Given the description of an element on the screen output the (x, y) to click on. 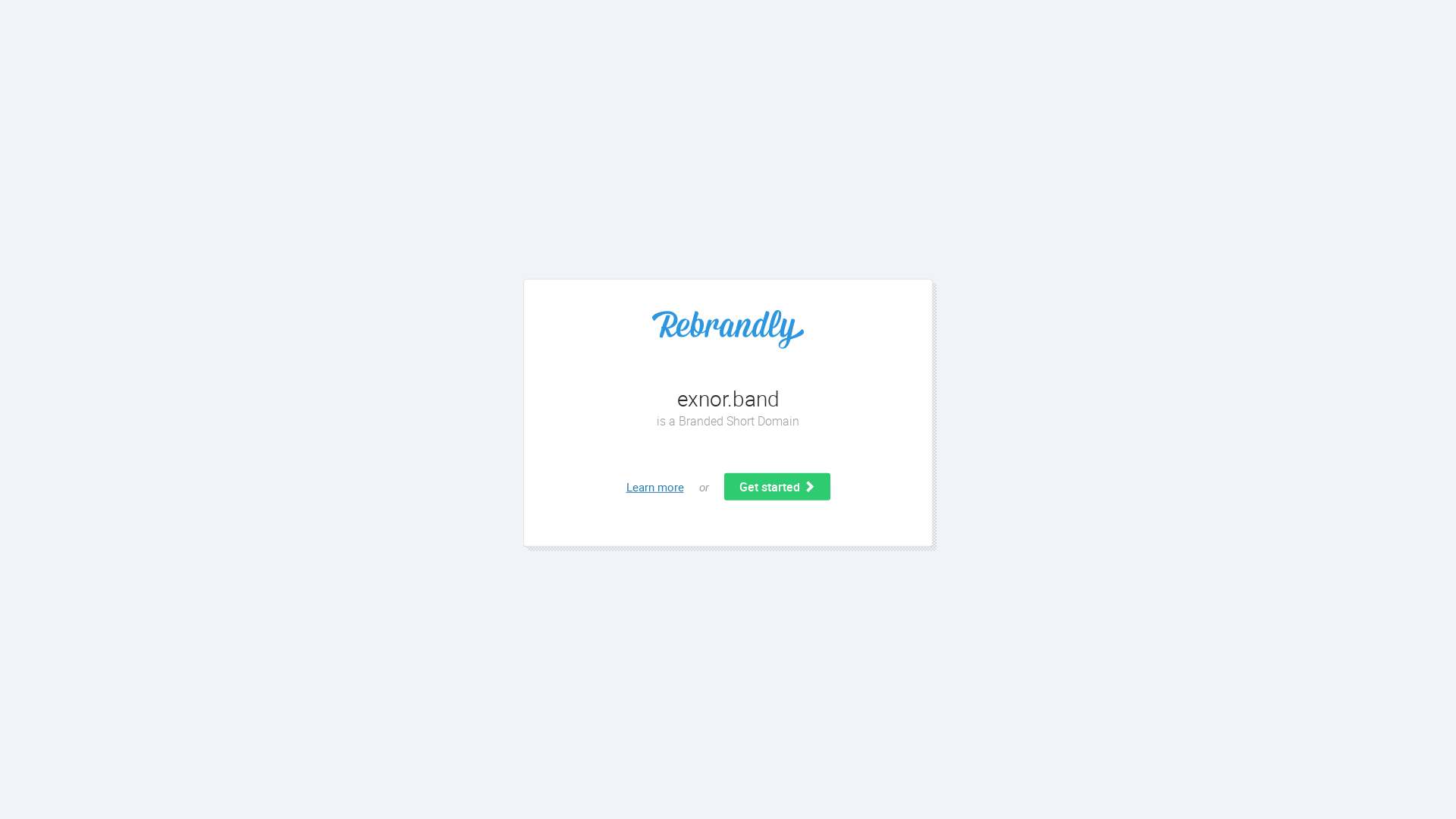
Get started Element type: text (776, 486)
Learn more Element type: text (655, 486)
